Given the description of an element on the screen output the (x, y) to click on. 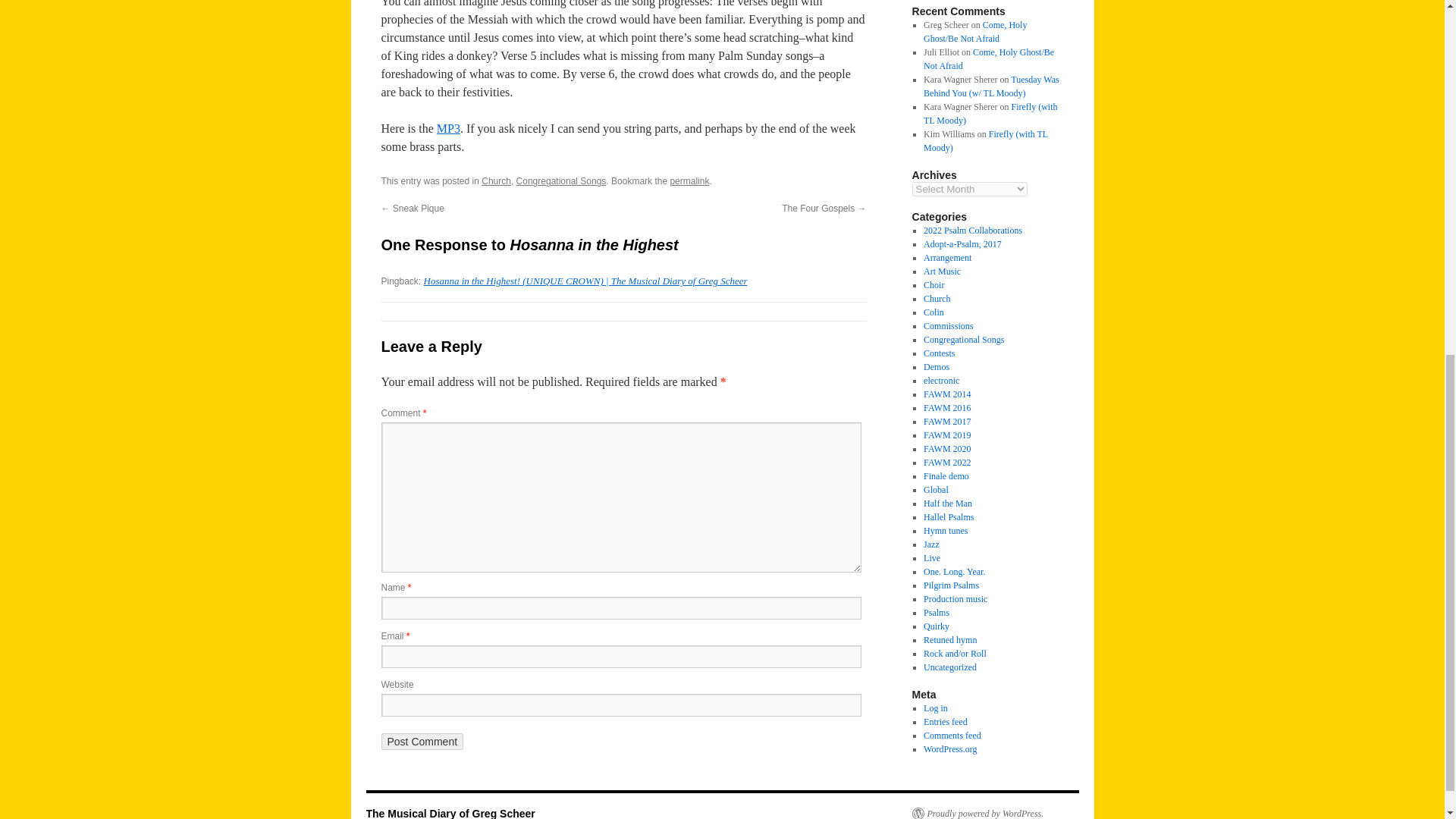
Church (496, 181)
Post Comment (421, 741)
permalink (689, 181)
MP3 (448, 128)
Post Comment (421, 741)
2022 Psalm Collaborations (972, 230)
Permalink to Hosanna in the Highest (689, 181)
Congregational Songs (561, 181)
